Given the description of an element on the screen output the (x, y) to click on. 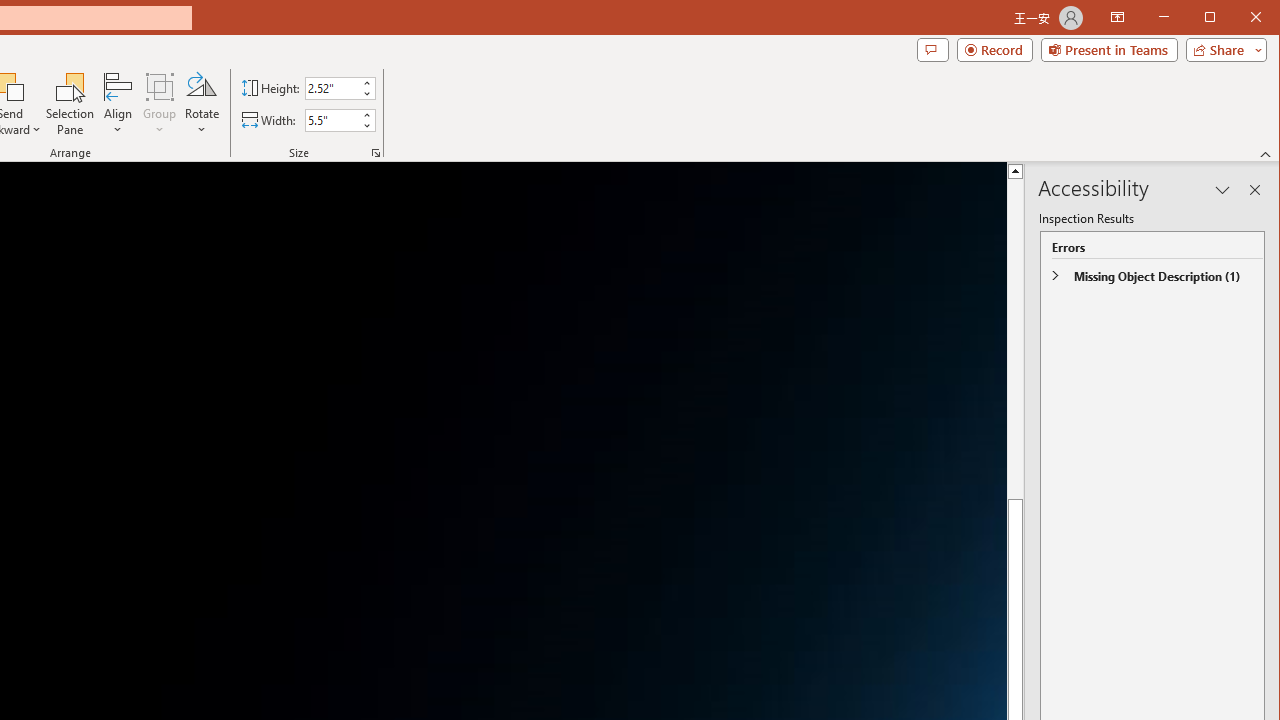
Shape Width (331, 120)
Shape Height (331, 88)
